Given the description of an element on the screen output the (x, y) to click on. 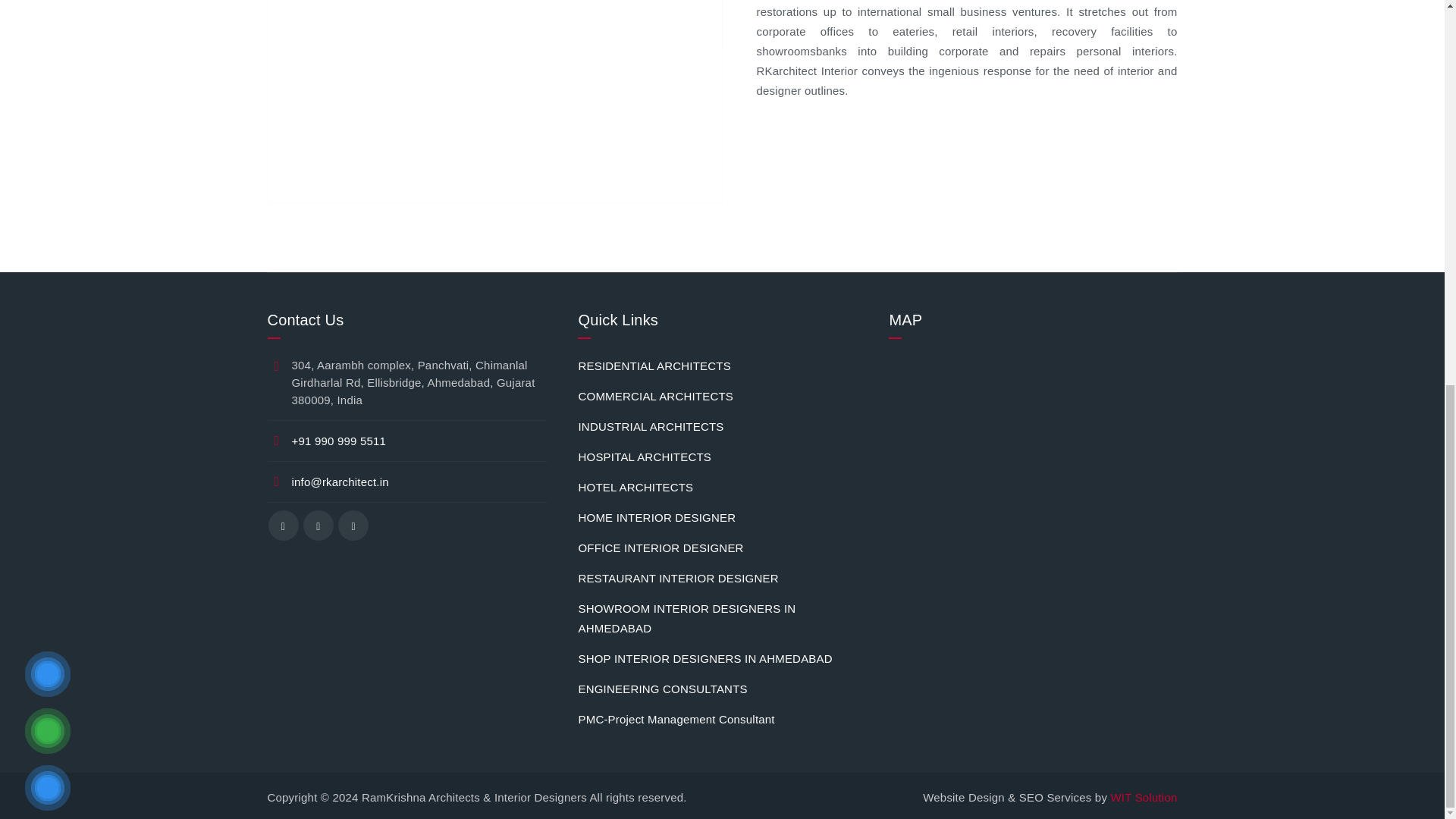
INDUSTRIAL ARCHITECTS (650, 426)
HOSPITAL ARCHITECTS (644, 456)
COMMERCIAL ARCHITECTS (655, 396)
RESIDENTIAL ARCHITECTS (654, 365)
HOTEL ARCHITECTS (635, 487)
WIT Solution (1142, 797)
